Given the description of an element on the screen output the (x, y) to click on. 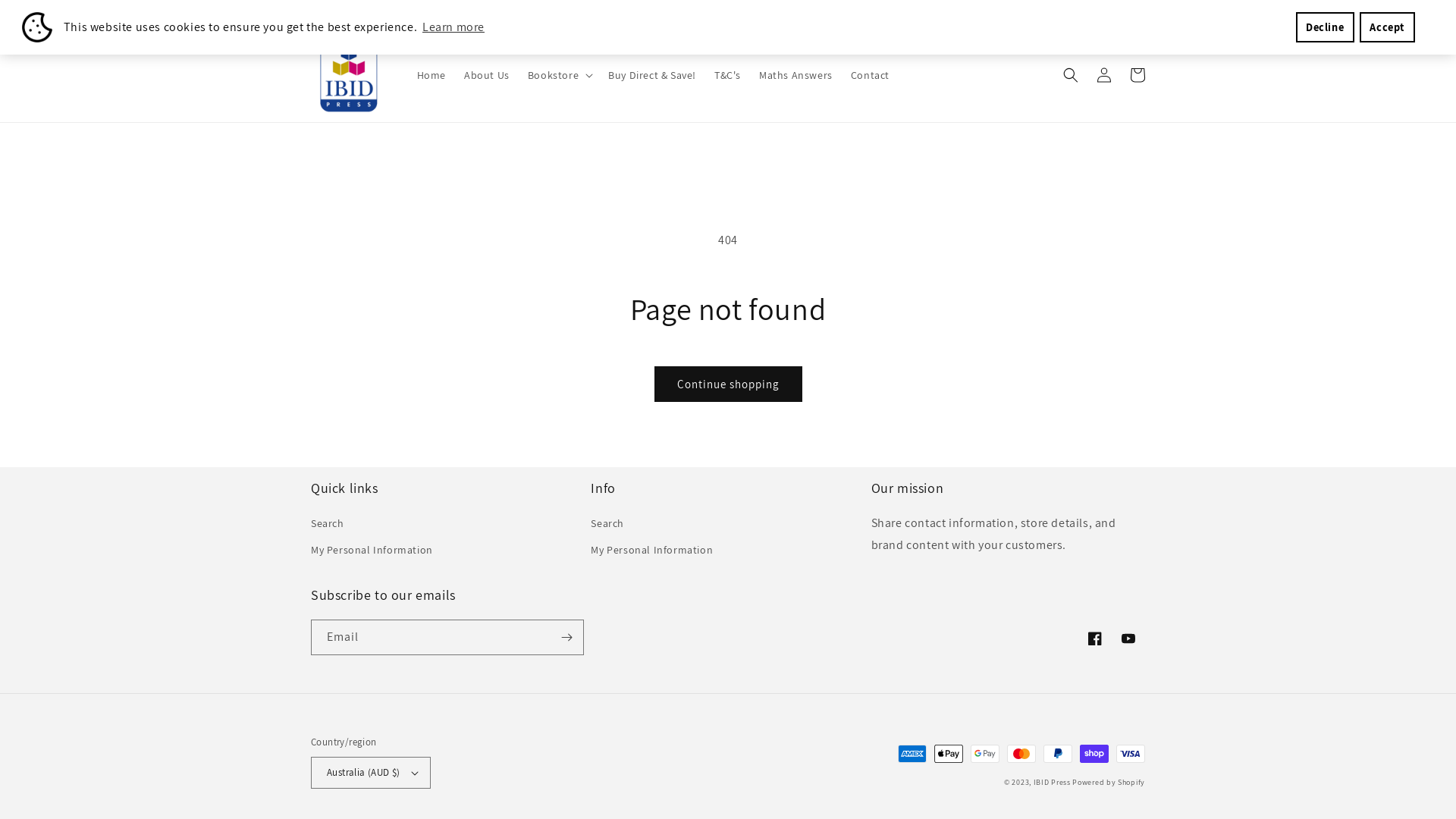
Home Element type: text (431, 75)
Cart Element type: text (1137, 74)
Australia (AUD $) Element type: text (370, 772)
Facebook Element type: text (1094, 638)
Learn more Element type: text (453, 26)
YouTube Element type: text (1128, 638)
Maths Answers Element type: text (795, 75)
T&C's Element type: text (727, 75)
Accept Element type: text (1387, 27)
My Personal Information Element type: text (651, 549)
Search Element type: text (327, 525)
Powered by Shopify Element type: text (1108, 782)
Search Element type: text (607, 525)
Buy Direct & Save! Element type: text (652, 75)
Decline Element type: text (1324, 27)
My Personal Information Element type: text (371, 549)
IBID Press Element type: text (1051, 782)
Continue shopping Element type: text (727, 383)
About Us Element type: text (486, 75)
Contact Element type: text (869, 75)
Log in Element type: text (1103, 74)
